Given the description of an element on the screen output the (x, y) to click on. 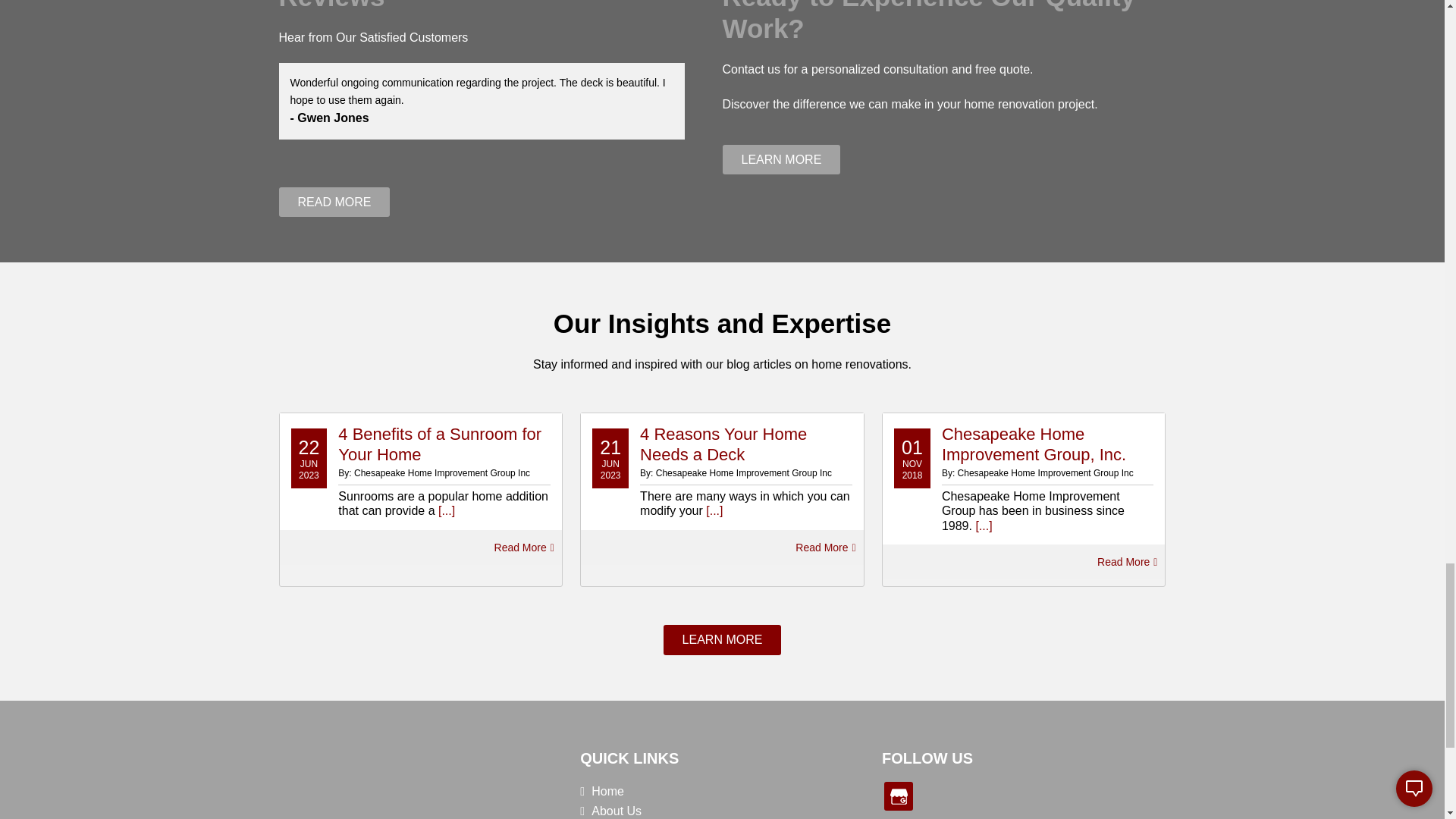
Google Business Profile (897, 796)
Chesapeake Home Improvement Group, Inc (311, 778)
